Given the description of an element on the screen output the (x, y) to click on. 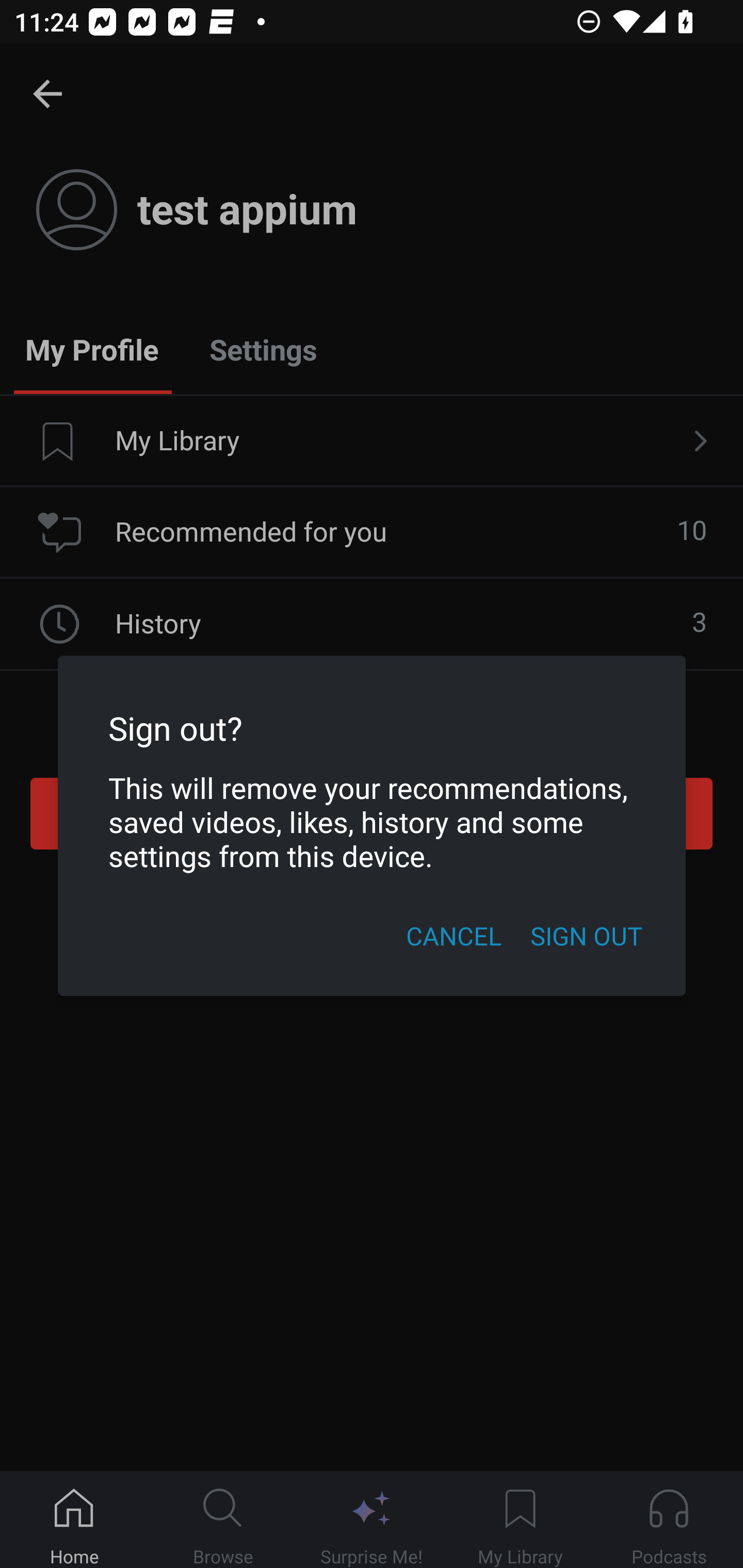
CANCEL (453, 935)
SIGN OUT (585, 935)
